Given the description of an element on the screen output the (x, y) to click on. 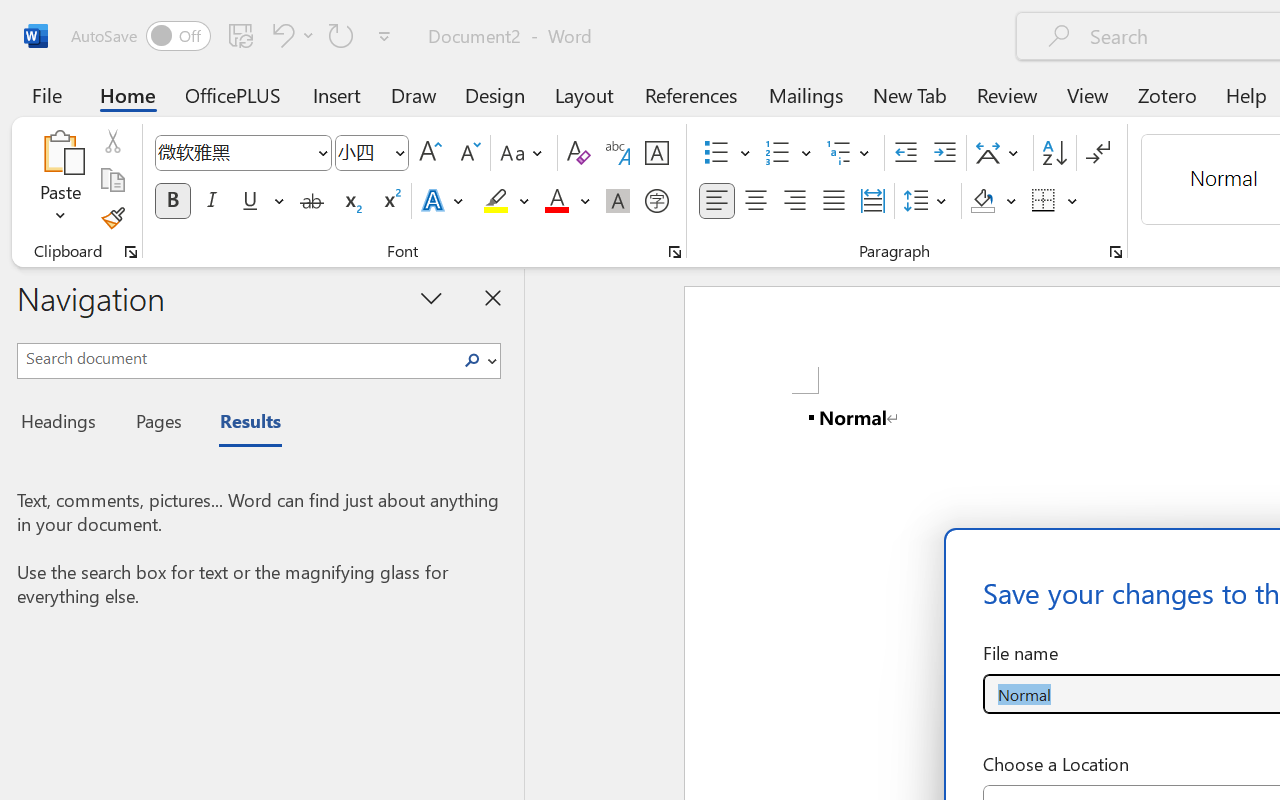
Phonetic Guide... (618, 153)
Borders (1055, 201)
Search (471, 360)
Cut (112, 141)
Repeat Text Fill Effect (341, 35)
Font (234, 152)
Font Size (372, 153)
Center (756, 201)
Bold (172, 201)
Sort... (1054, 153)
Search document (236, 358)
Align Right (794, 201)
Home (127, 94)
Font Color (567, 201)
